Given the description of an element on the screen output the (x, y) to click on. 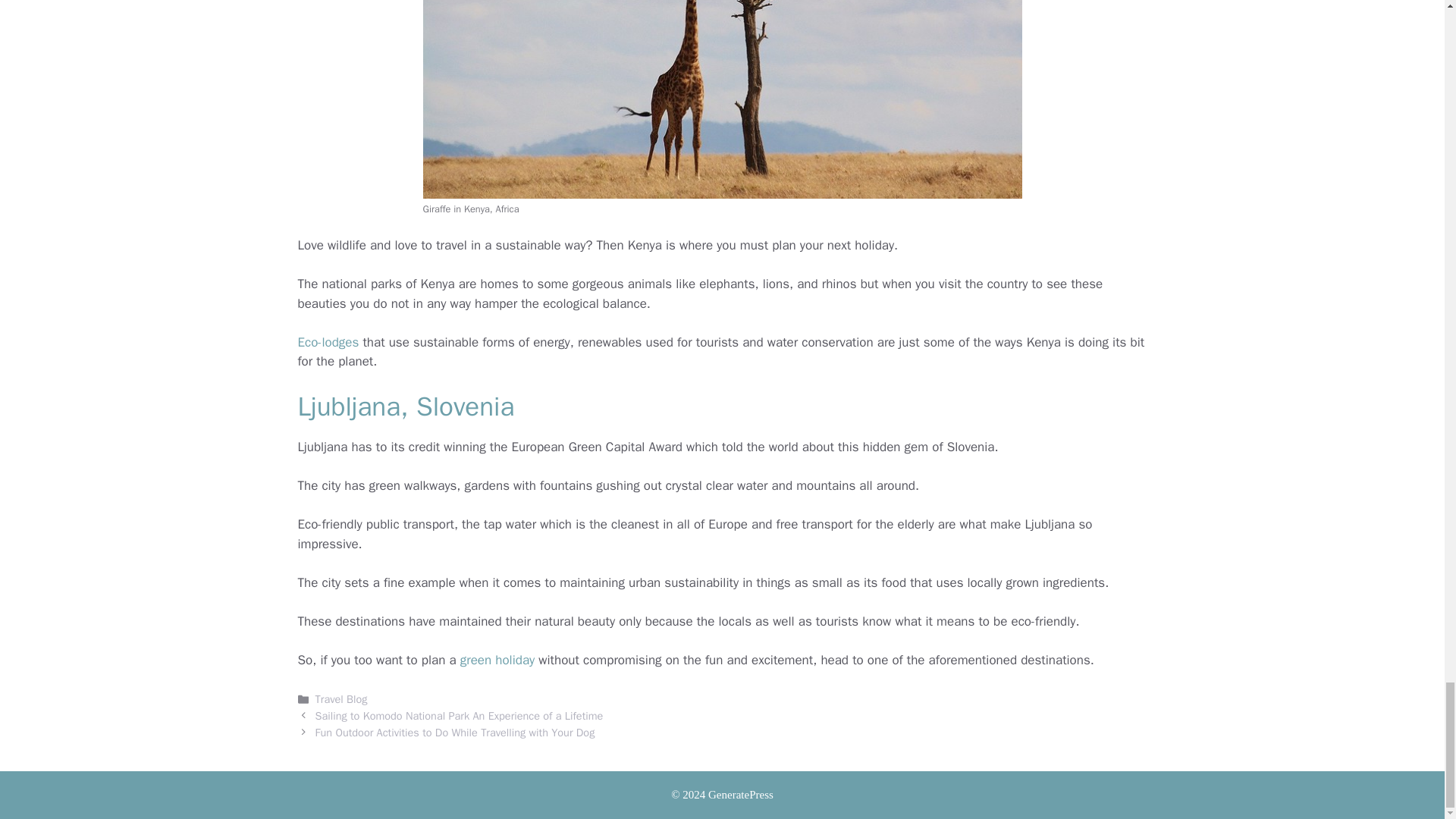
Fun Outdoor Activities to Do While Travelling with Your Dog (455, 732)
Travel Blog (341, 698)
green holiday (497, 659)
Eco-lodges (327, 342)
Sailing to Komodo National Park An Experience of a Lifetime (459, 715)
